Given the description of an element on the screen output the (x, y) to click on. 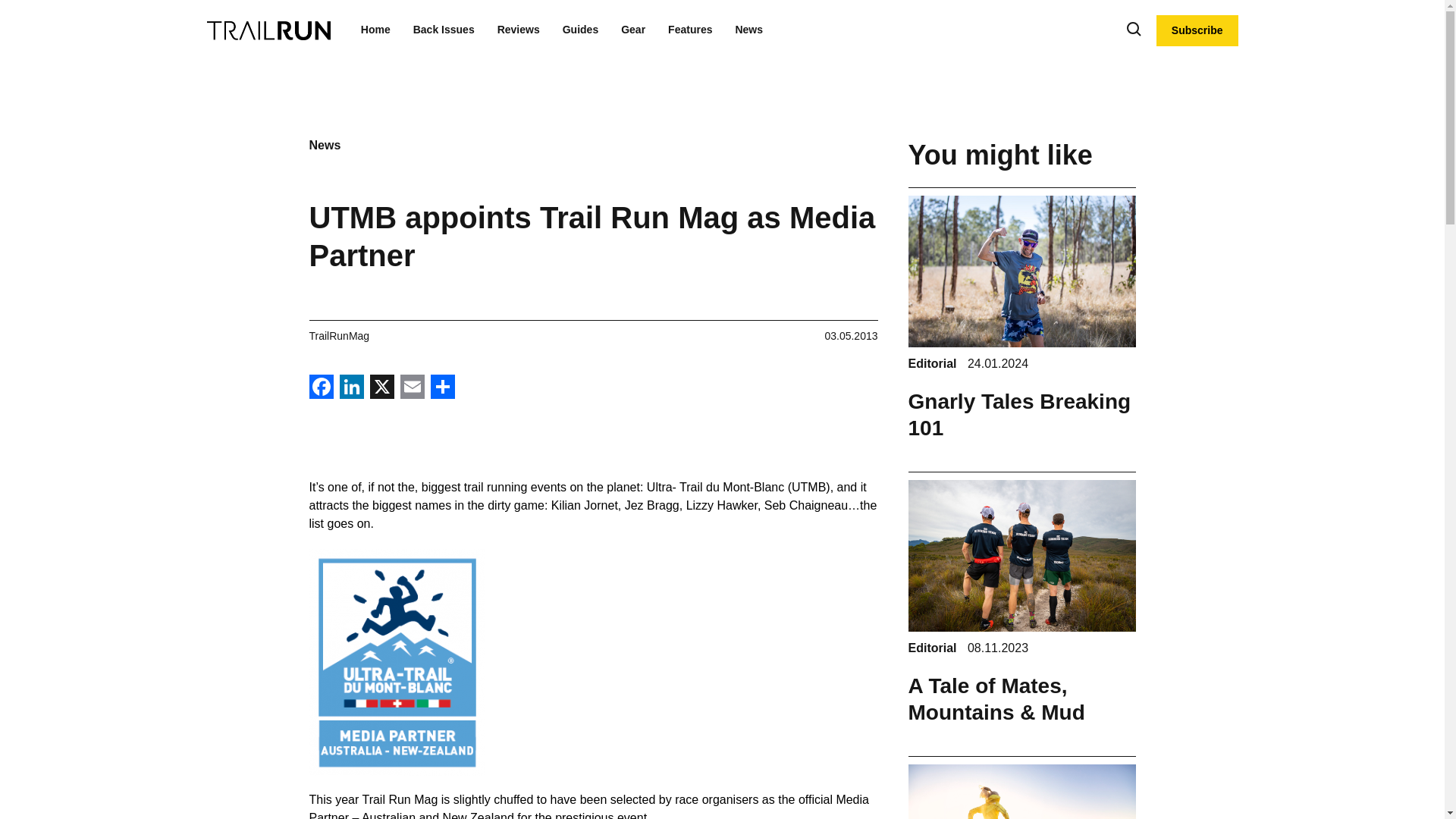
Features (689, 30)
LinkedIn (351, 388)
News (324, 144)
Email (412, 388)
Facebook (320, 388)
X (381, 388)
Subscribe (1197, 30)
Home (375, 30)
LinkedIn (351, 388)
News (748, 30)
Guides (580, 30)
Facebook (320, 388)
Email (412, 388)
TrailRunMag (338, 335)
Reviews (518, 30)
